Given the description of an element on the screen output the (x, y) to click on. 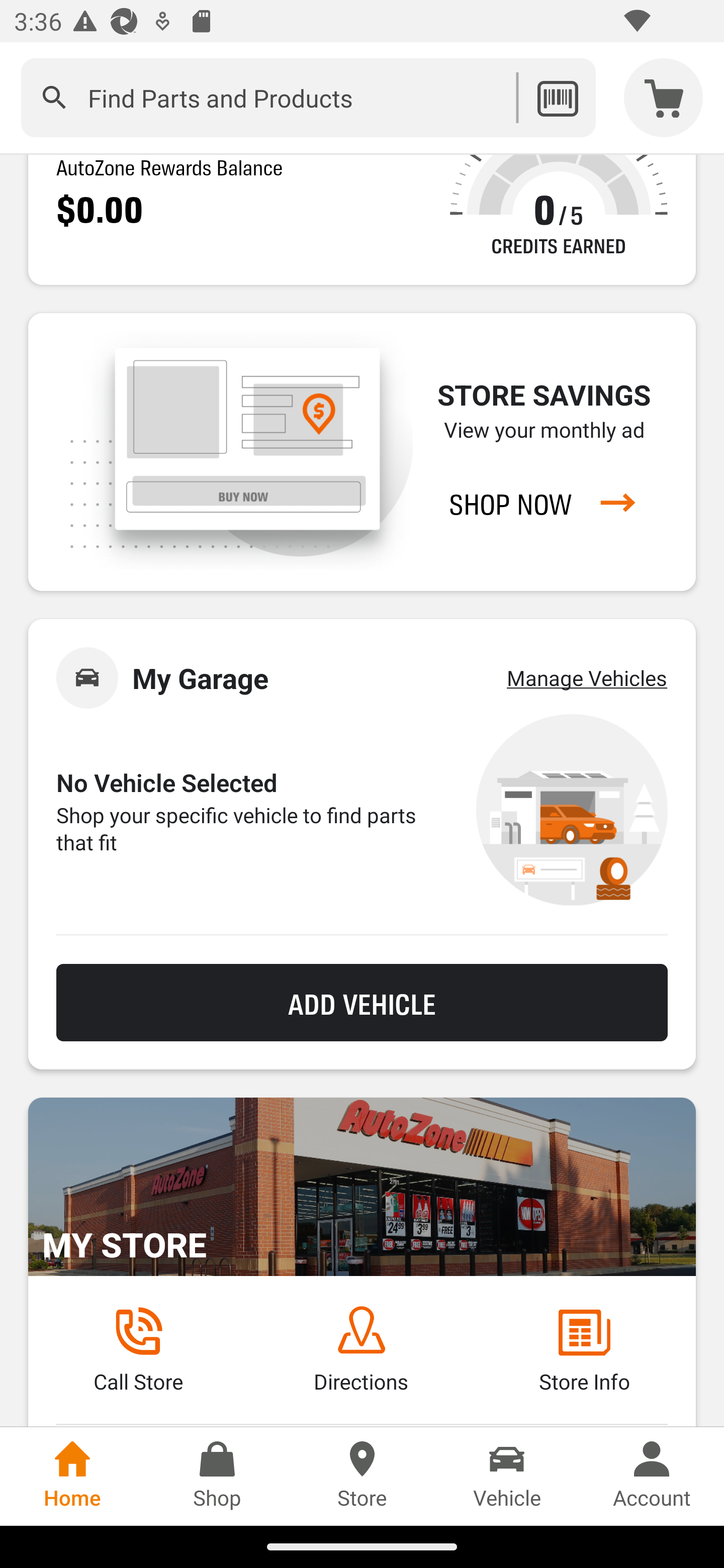
 scan-product-to-search  (557, 97)
 (54, 97)
Cart, no items  (663, 97)
Manage Vehicles (586, 677)
ADD VEHICLE (361, 1002)
Call Store  Call Store (138, 1349)
Directions  Directions (361, 1349)
Store Info  Store Info (584, 1349)
Home (72, 1475)
Shop (216, 1475)
Store (361, 1475)
Vehicle (506, 1475)
Account (651, 1475)
